Given the description of an element on the screen output the (x, y) to click on. 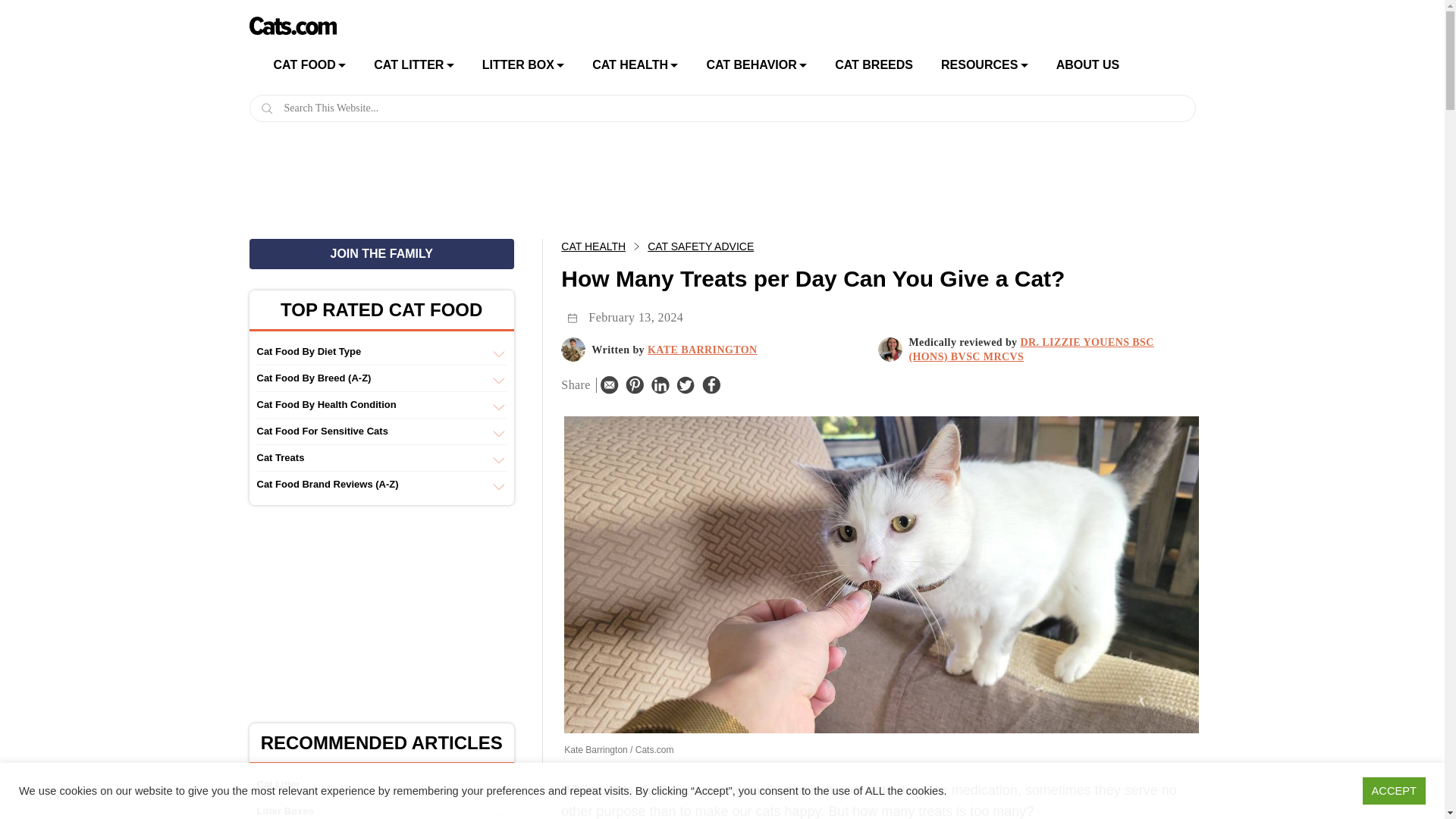
WET CAT FOOD (341, 153)
CAT INSURANCE (660, 99)
KITTEN FOOD (341, 180)
CAT BREEDS (873, 64)
CAT SYMPTOMS (660, 180)
CAT FORUM (1010, 190)
BEST RATED (550, 99)
CLUMPING (442, 126)
CAT NAME FINDER (1010, 163)
PREVENTIVE CARE (660, 126)
KITTEN LITTER (442, 179)
LITTER BOX (517, 64)
CAT BASICS (1010, 216)
CAT DISEASES (660, 153)
